Given the description of an element on the screen output the (x, y) to click on. 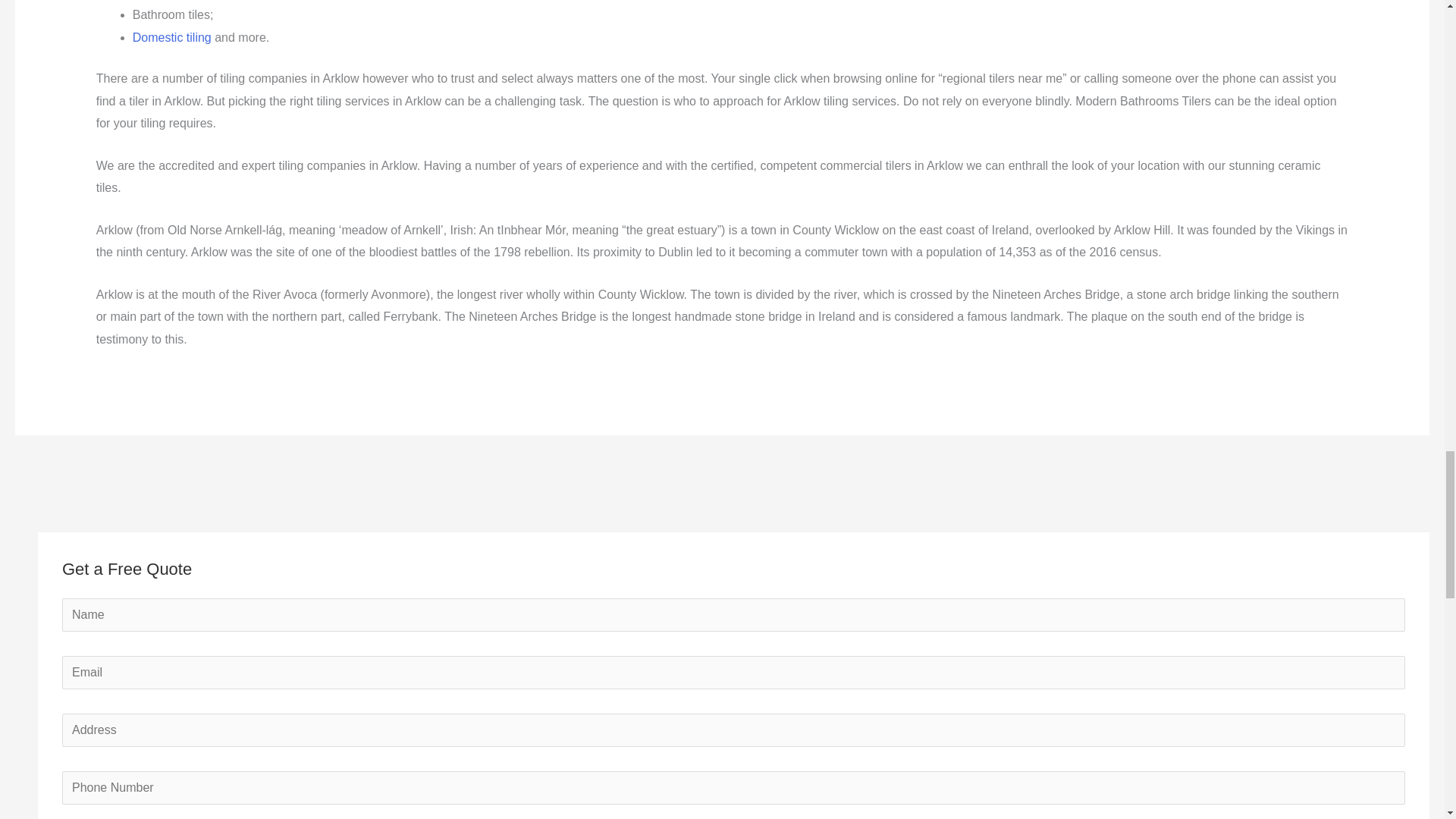
Domestic tiling (171, 37)
